Given the description of an element on the screen output the (x, y) to click on. 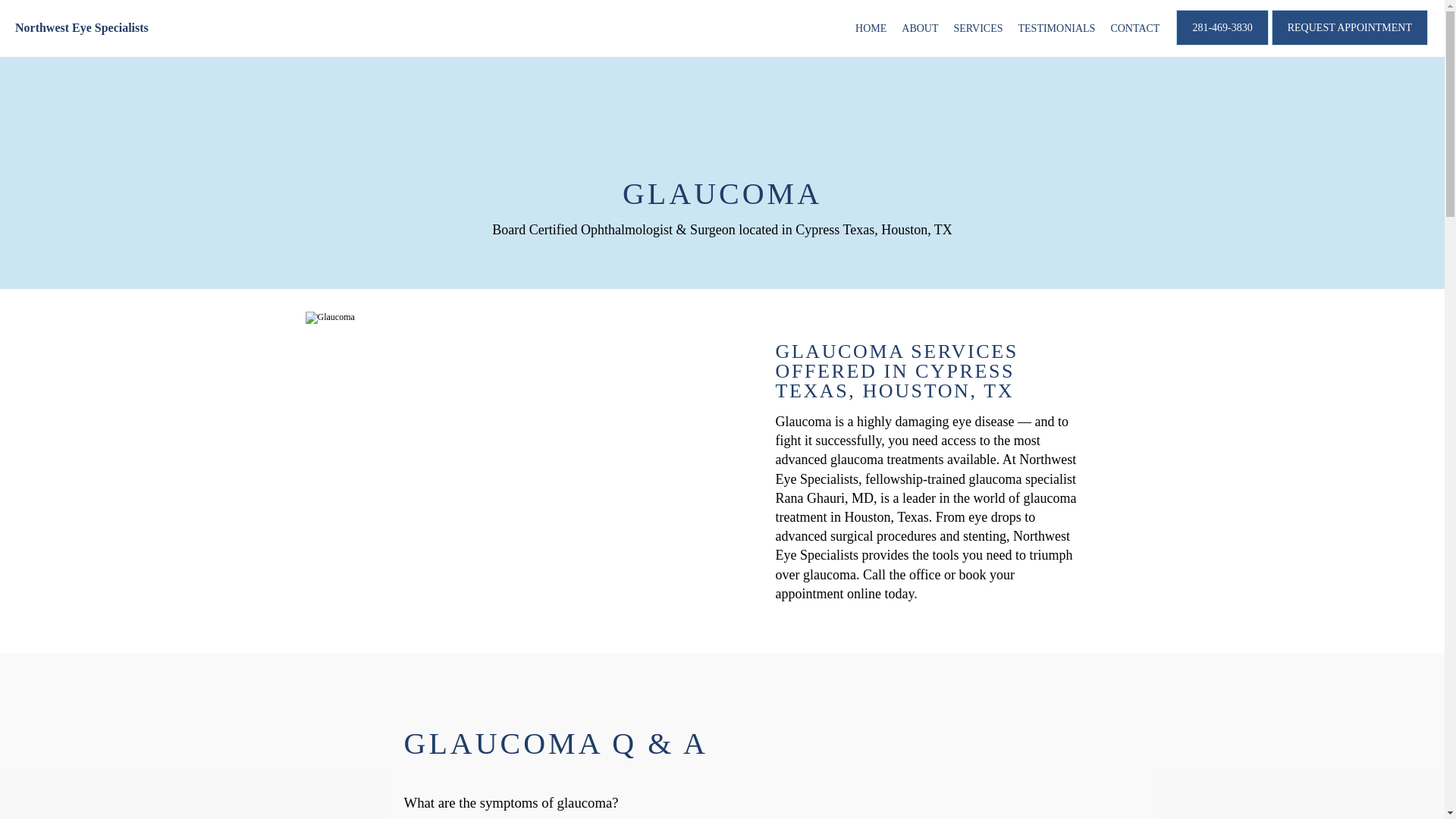
SERVICES (978, 28)
ABOUT (919, 28)
HOME (871, 28)
REQUEST APPOINTMENT (1349, 43)
TESTIMONIALS (1056, 28)
CONTACT (1133, 28)
281-469-3830 (1221, 43)
